Given the description of an element on the screen output the (x, y) to click on. 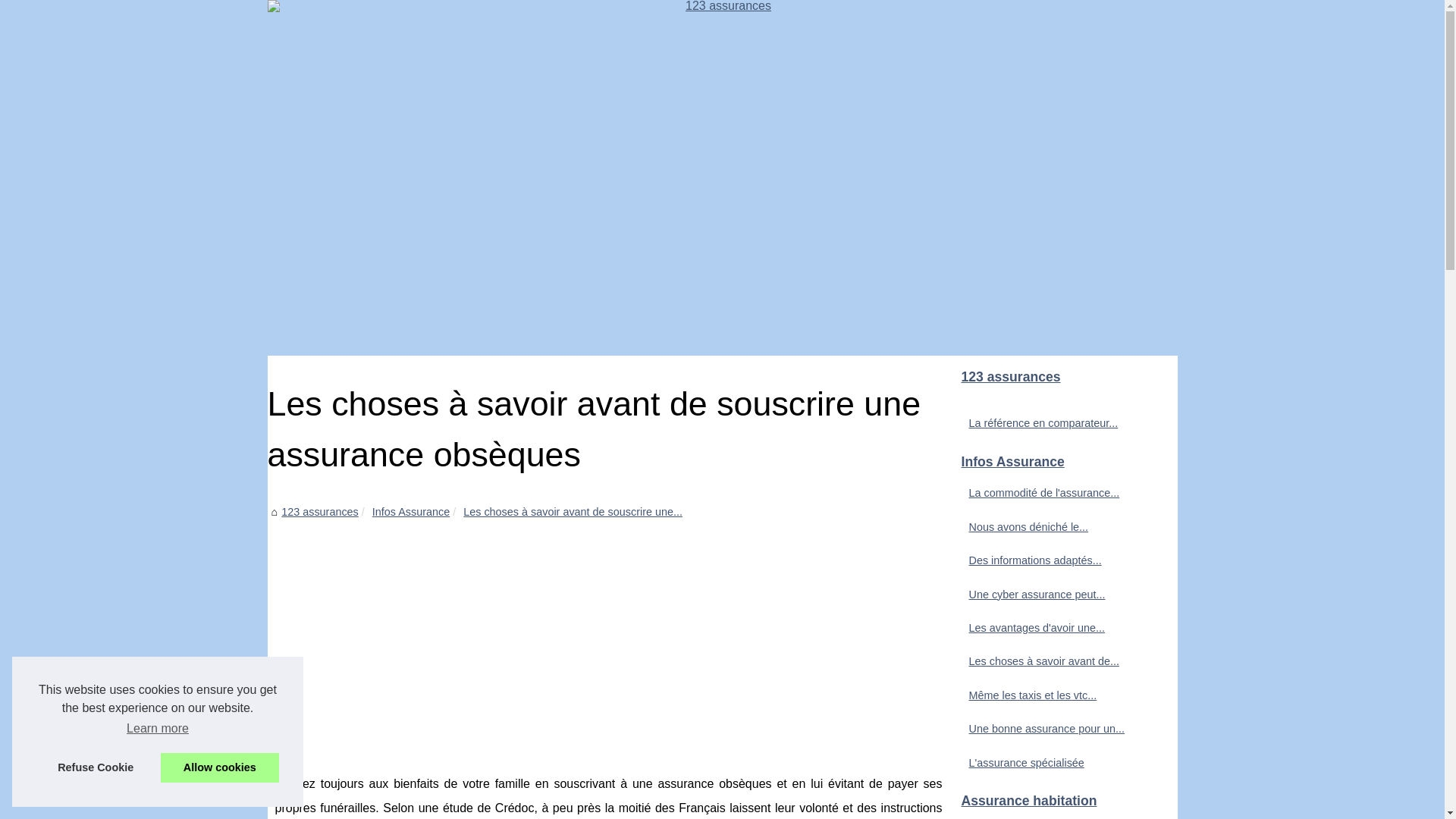
Assurance habitation Element type: text (1063, 801)
123 assurances Element type: hover (721, 177)
Les avantages d'avoir une... Element type: text (1055, 627)
Infos Assurance Element type: text (410, 511)
123 assurances Element type: text (319, 511)
Refuse Cookie Element type: text (95, 767)
Learn more Element type: text (157, 728)
Une bonne assurance pour un... Element type: text (1055, 728)
Allow cookies Element type: text (219, 767)
Une cyber assurance peut... Element type: text (1055, 594)
123 assurances Element type: text (1063, 377)
Infos Assurance Element type: text (1063, 462)
